Given the description of an element on the screen output the (x, y) to click on. 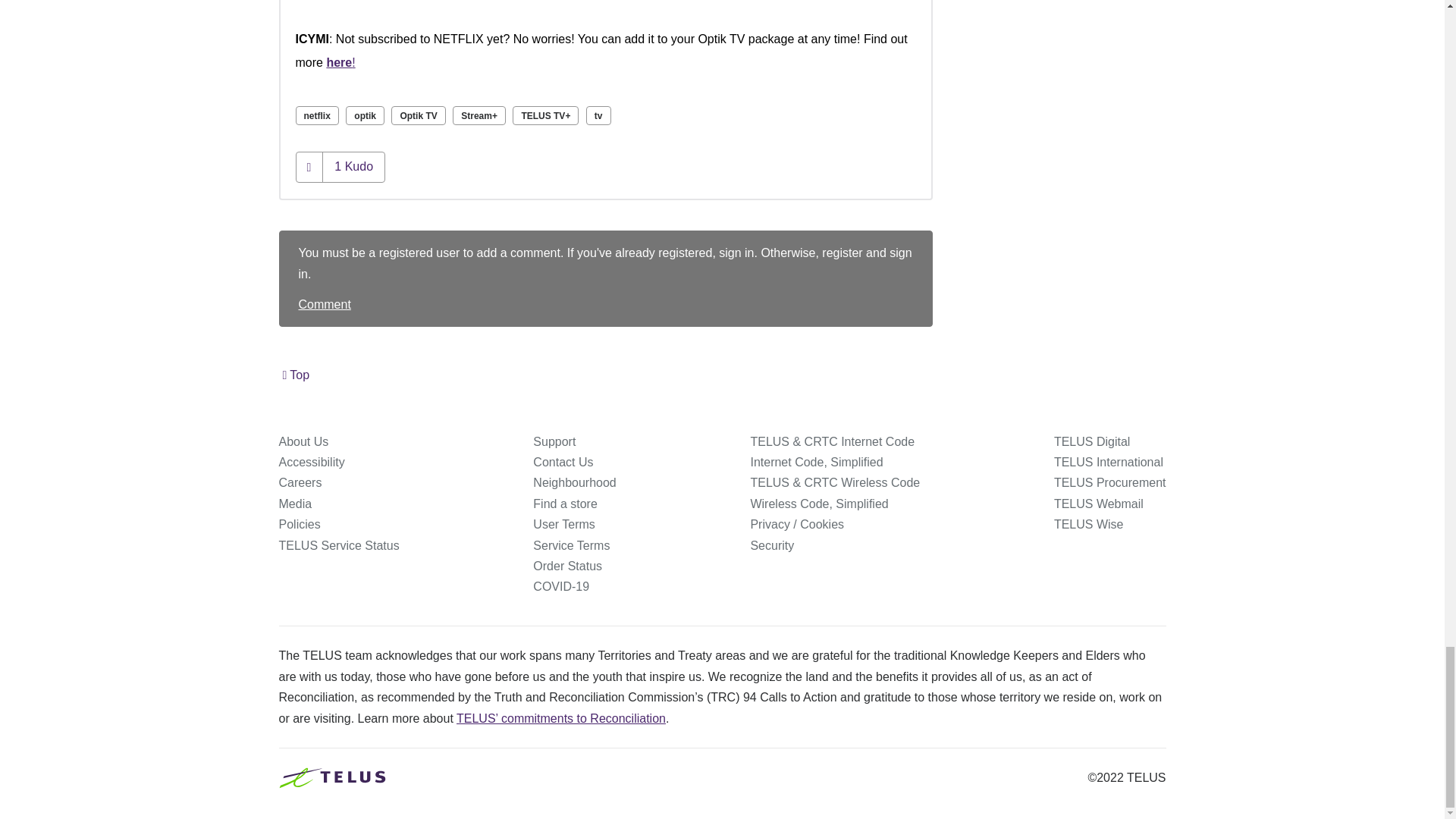
Click here to see who gave kudos to this post. (353, 166)
here! (340, 62)
Top (295, 374)
netflix (317, 115)
Top (295, 374)
Click here to give kudos to this post. (309, 166)
